Given the description of an element on the screen output the (x, y) to click on. 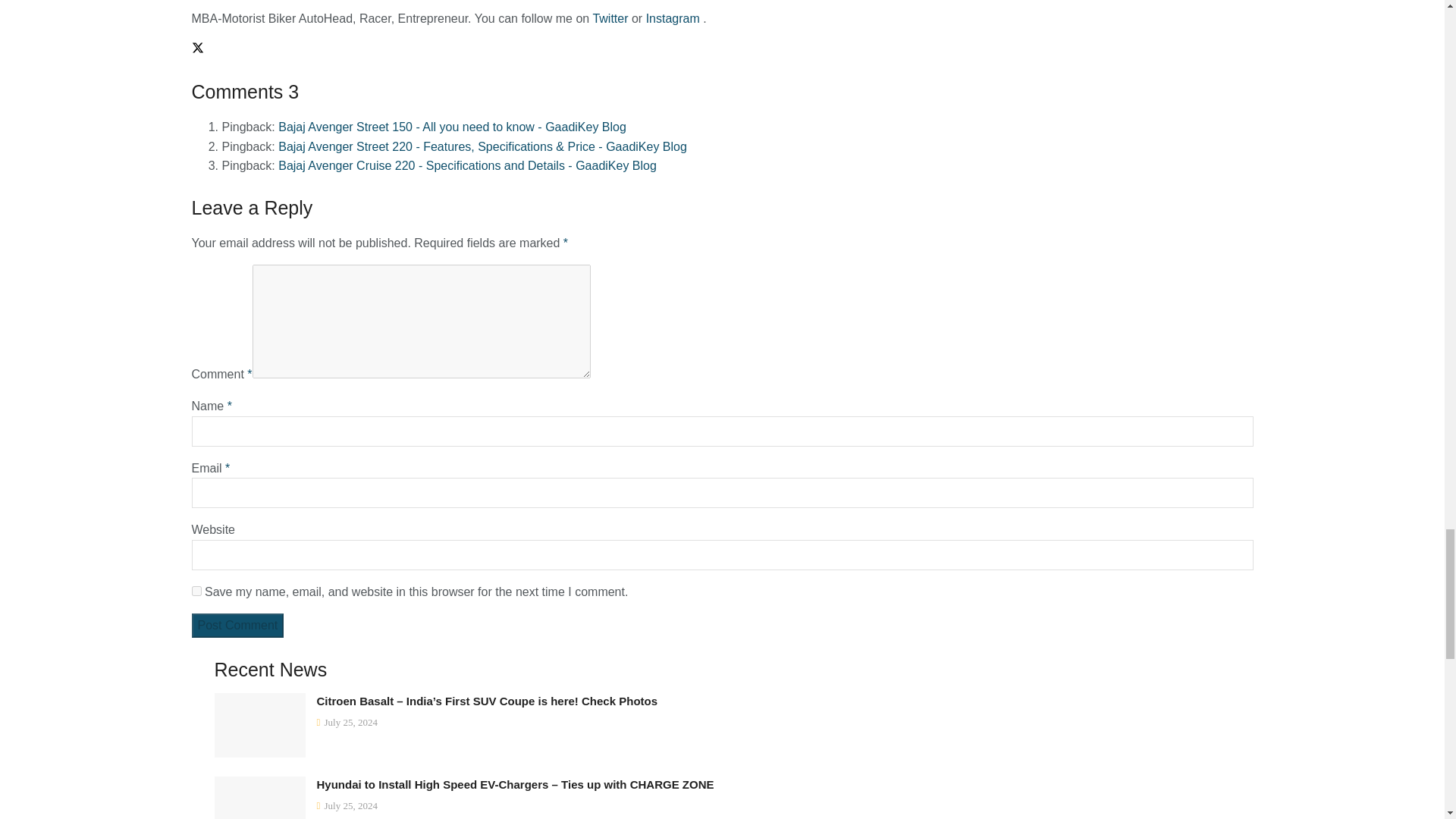
Post Comment (236, 625)
yes (195, 591)
